Given the description of an element on the screen output the (x, y) to click on. 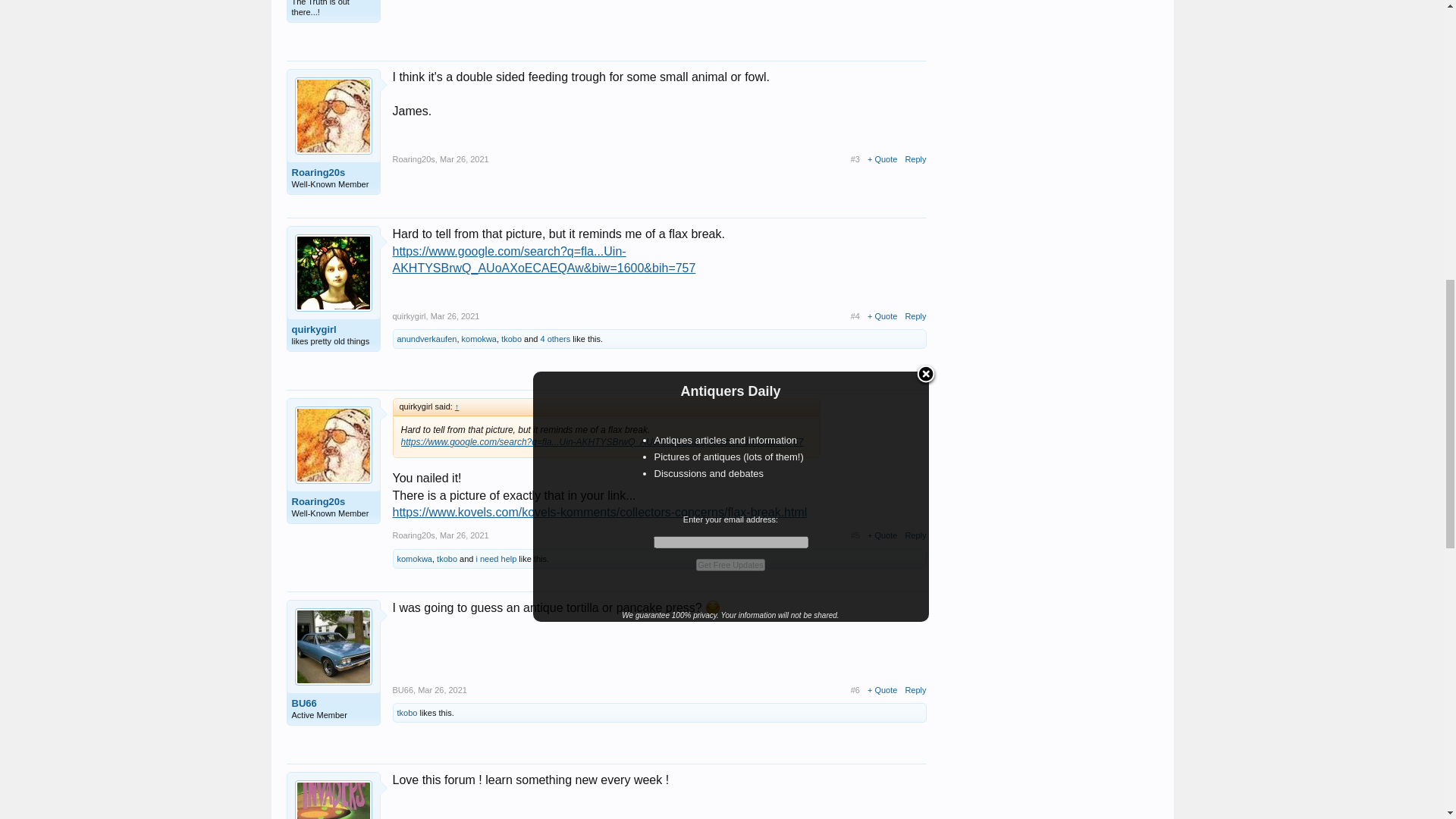
Mar 26, 2021 (464, 158)
quirkygirl (332, 329)
Permalink (464, 158)
Toggle Multi-Quote (881, 158)
quirkygirl (409, 316)
Roaring20s (332, 173)
Reply (915, 158)
Mar 26, 2021 (455, 316)
Roaring20s (414, 158)
